Given the description of an element on the screen output the (x, y) to click on. 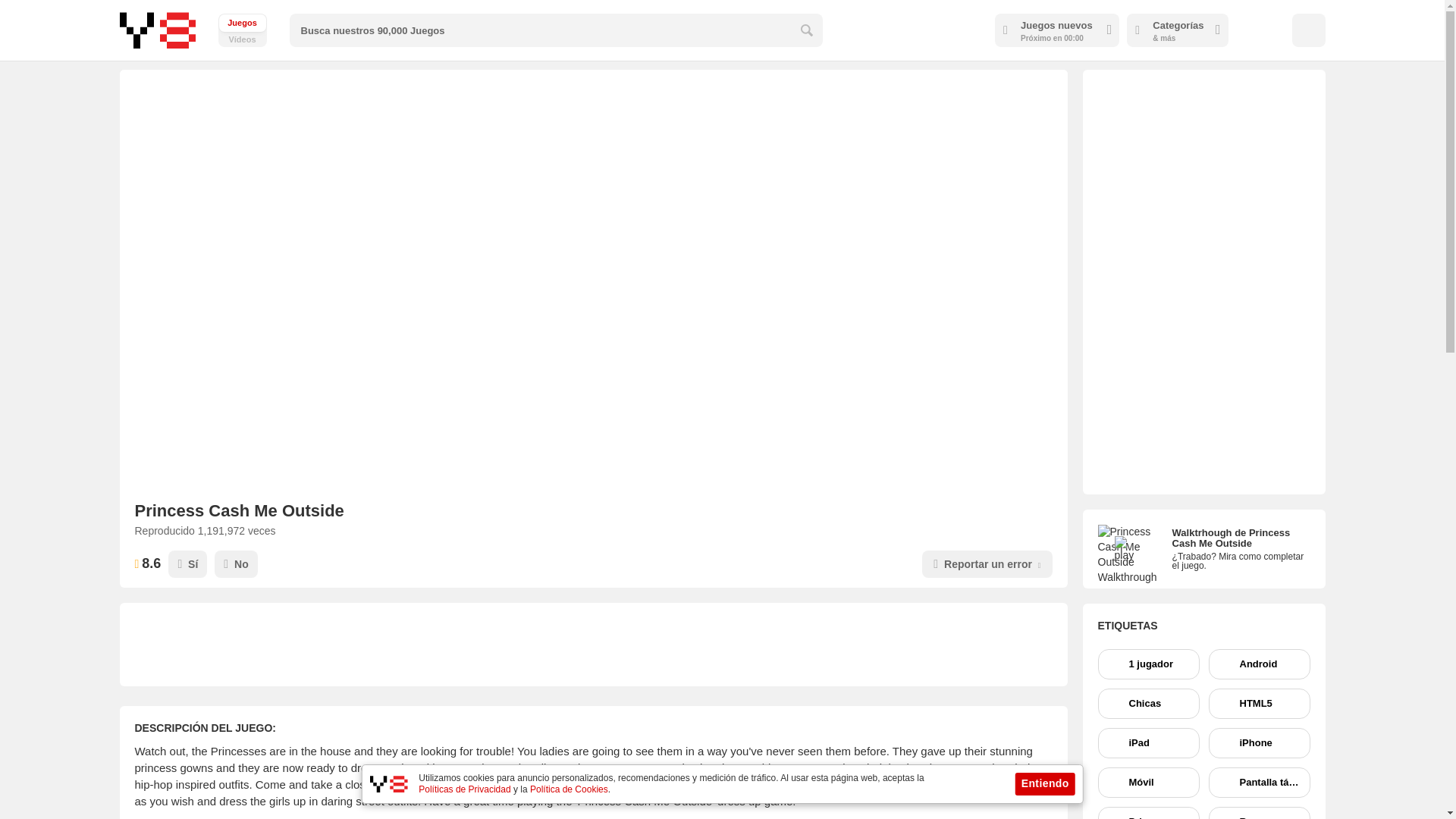
iPad (1148, 743)
1 jugador (1148, 664)
HTML5 (1259, 703)
iPhone (1259, 743)
Android (1259, 664)
Chicas (1148, 703)
Princesa (1148, 812)
Ropa (1259, 812)
